Given the description of an element on the screen output the (x, y) to click on. 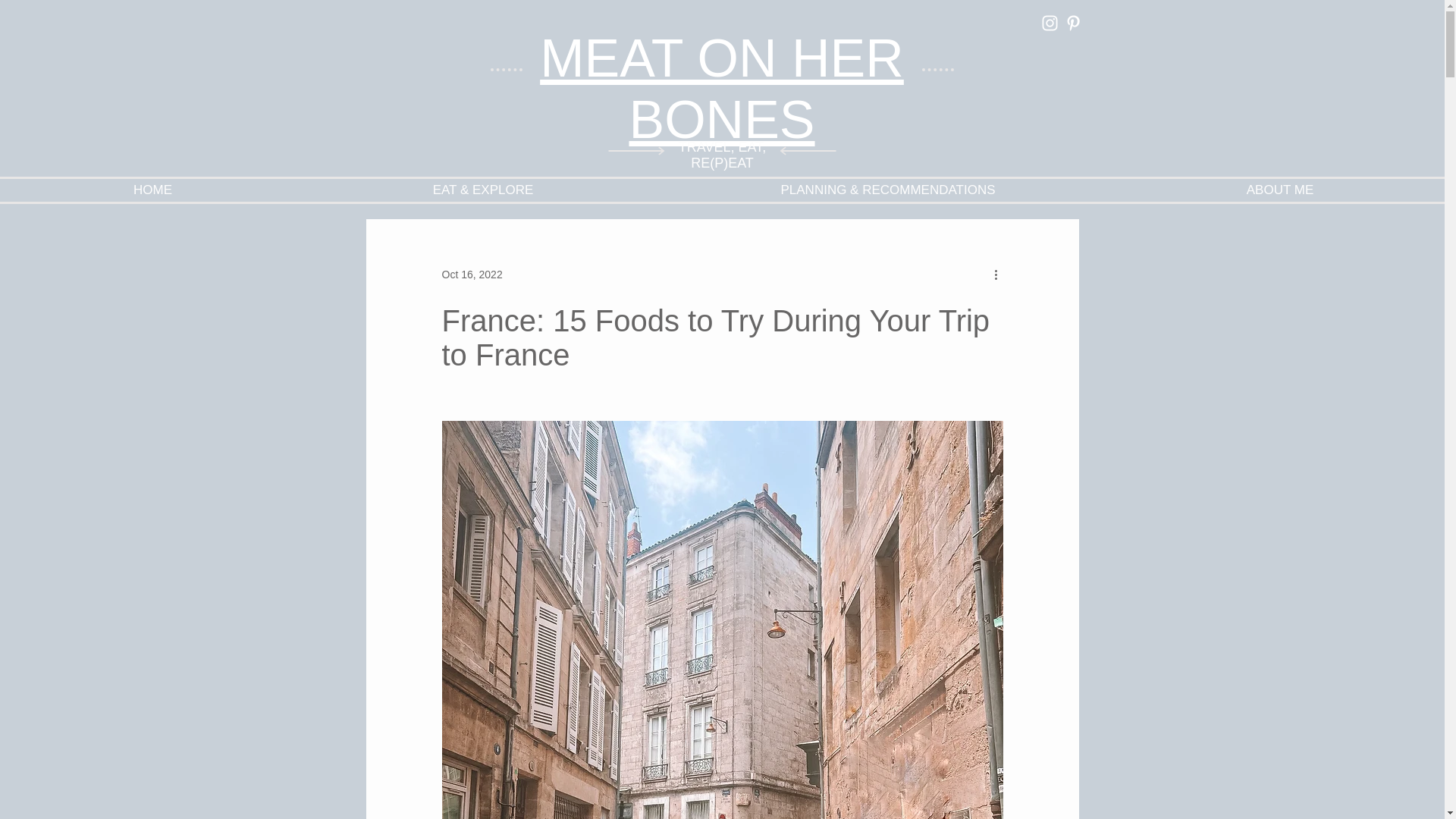
MEAT ON HER BONES (722, 89)
Oct 16, 2022 (471, 274)
HOME (152, 190)
